Given the description of an element on the screen output the (x, y) to click on. 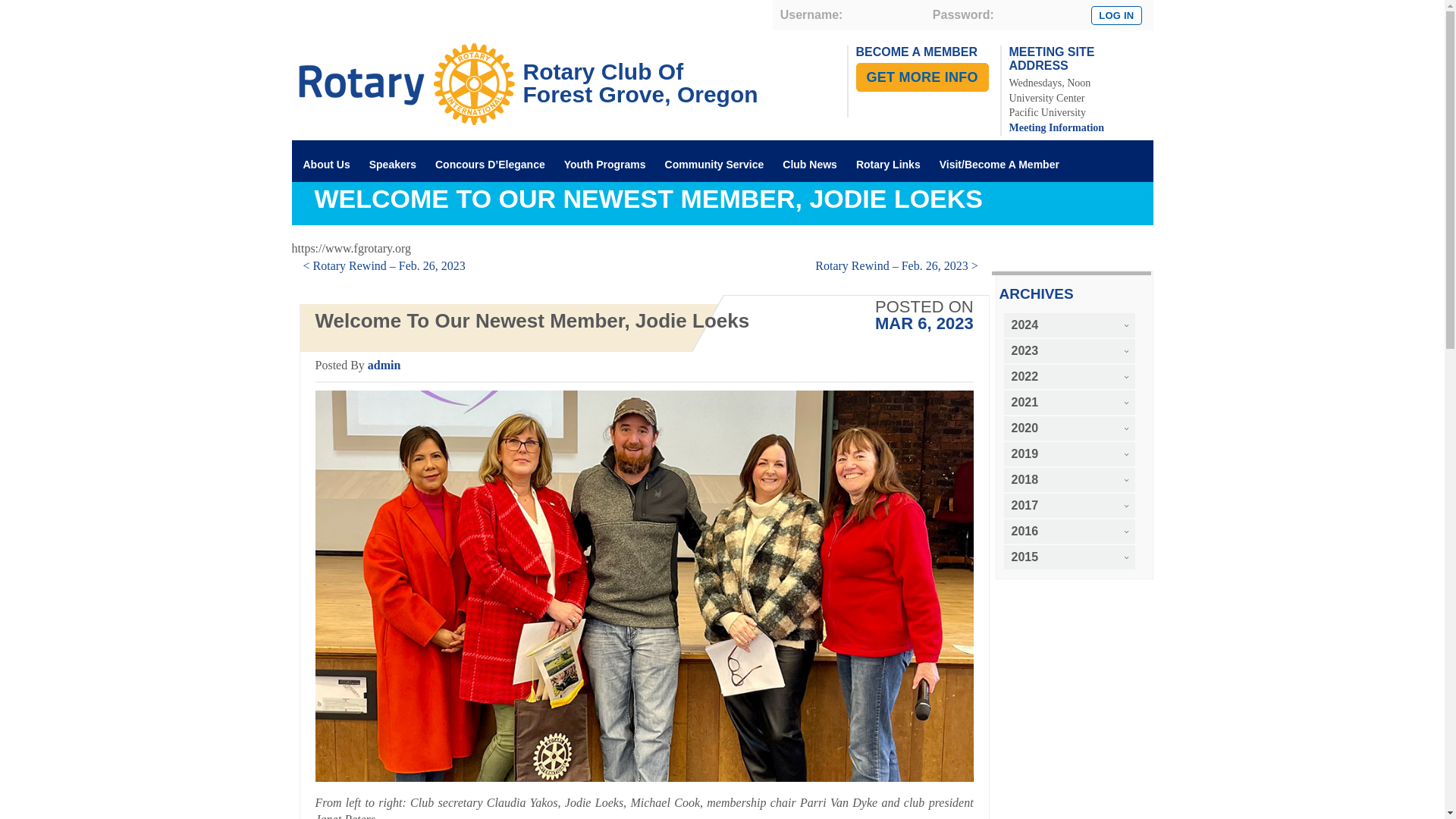
log In (1115, 15)
log In (524, 71)
Meeting Information (1115, 15)
Rotary Club of Forest Grove, Ore., USA (1056, 127)
Community Service (524, 71)
Club News (714, 166)
MAR 6, 2023 (809, 166)
DONATE HERE (924, 322)
Youth Programs (340, 208)
